Given the description of an element on the screen output the (x, y) to click on. 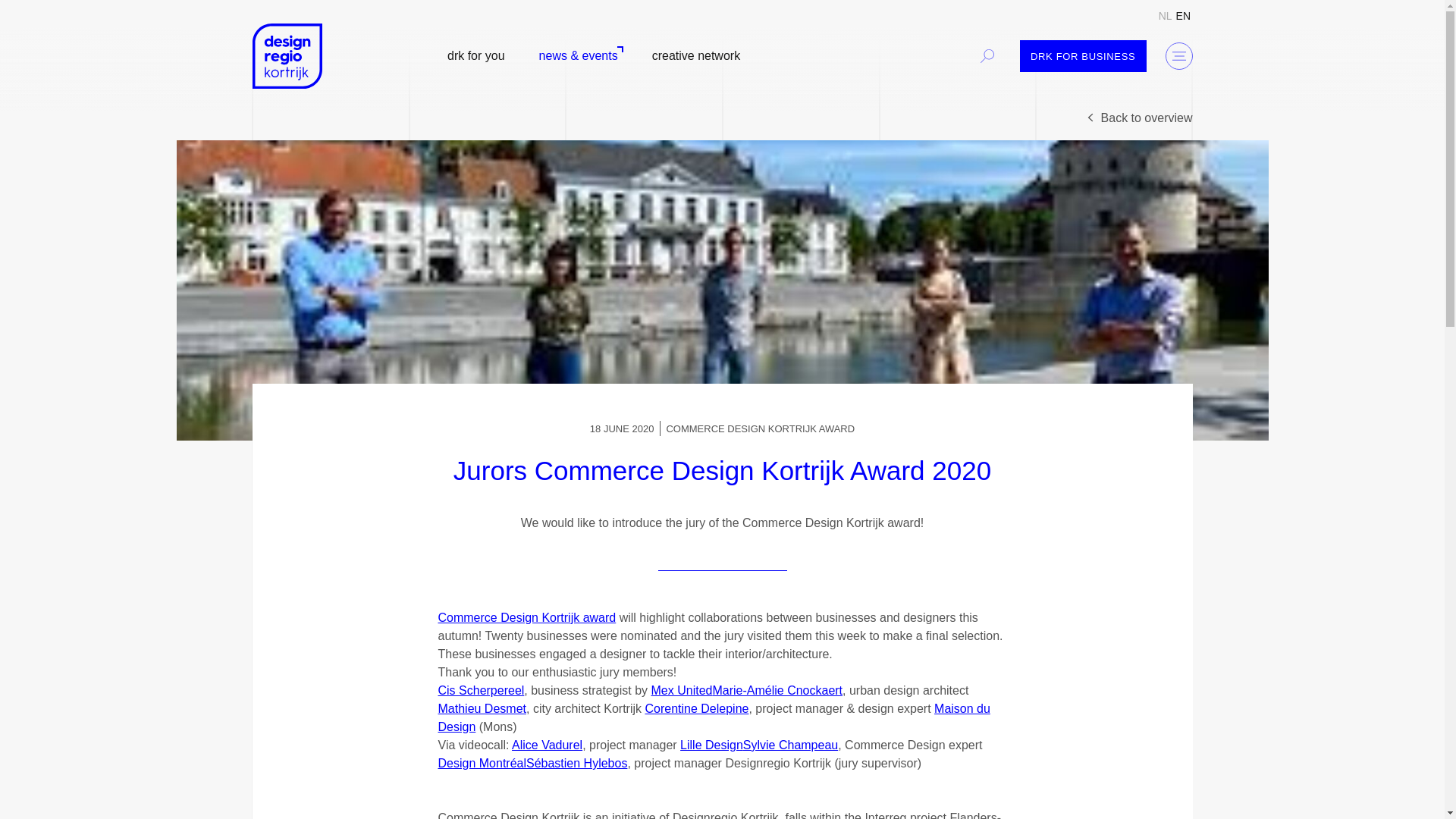
Sylvie Champeau (790, 744)
COMMERCE DESIGN KORTRIJK AWARD (759, 428)
Cis Scherpereel (481, 689)
Commerce Design Kortrijk award (526, 617)
Back to overview (1138, 118)
Maison du Design (714, 717)
creative network (695, 55)
Corentine Delepine (696, 707)
Lille Design (710, 744)
EN (1182, 15)
drk for you (476, 55)
Mex United (681, 689)
DRK FOR BUSINESS (1083, 55)
NL (1164, 15)
Mathieu Desmet (482, 707)
